Given the description of an element on the screen output the (x, y) to click on. 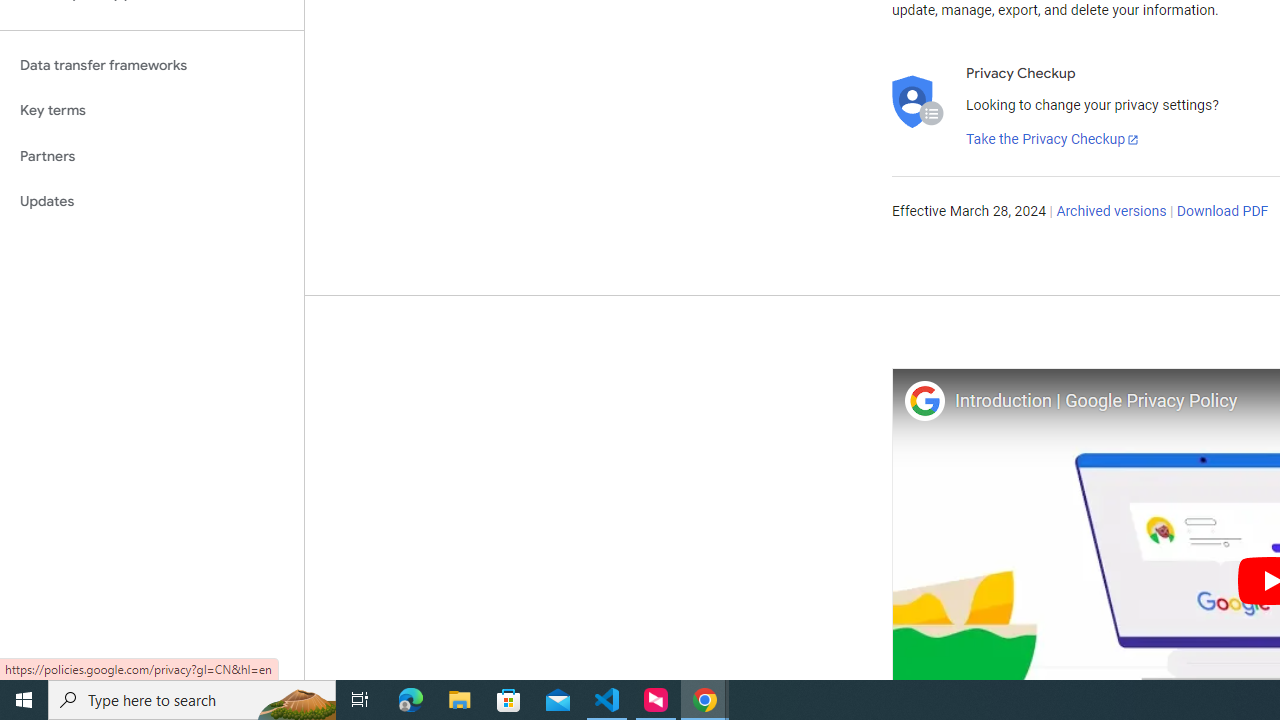
Photo image of Google (924, 400)
Download PDF (1222, 212)
Take the Privacy Checkup (1053, 140)
